Given the description of an element on the screen output the (x, y) to click on. 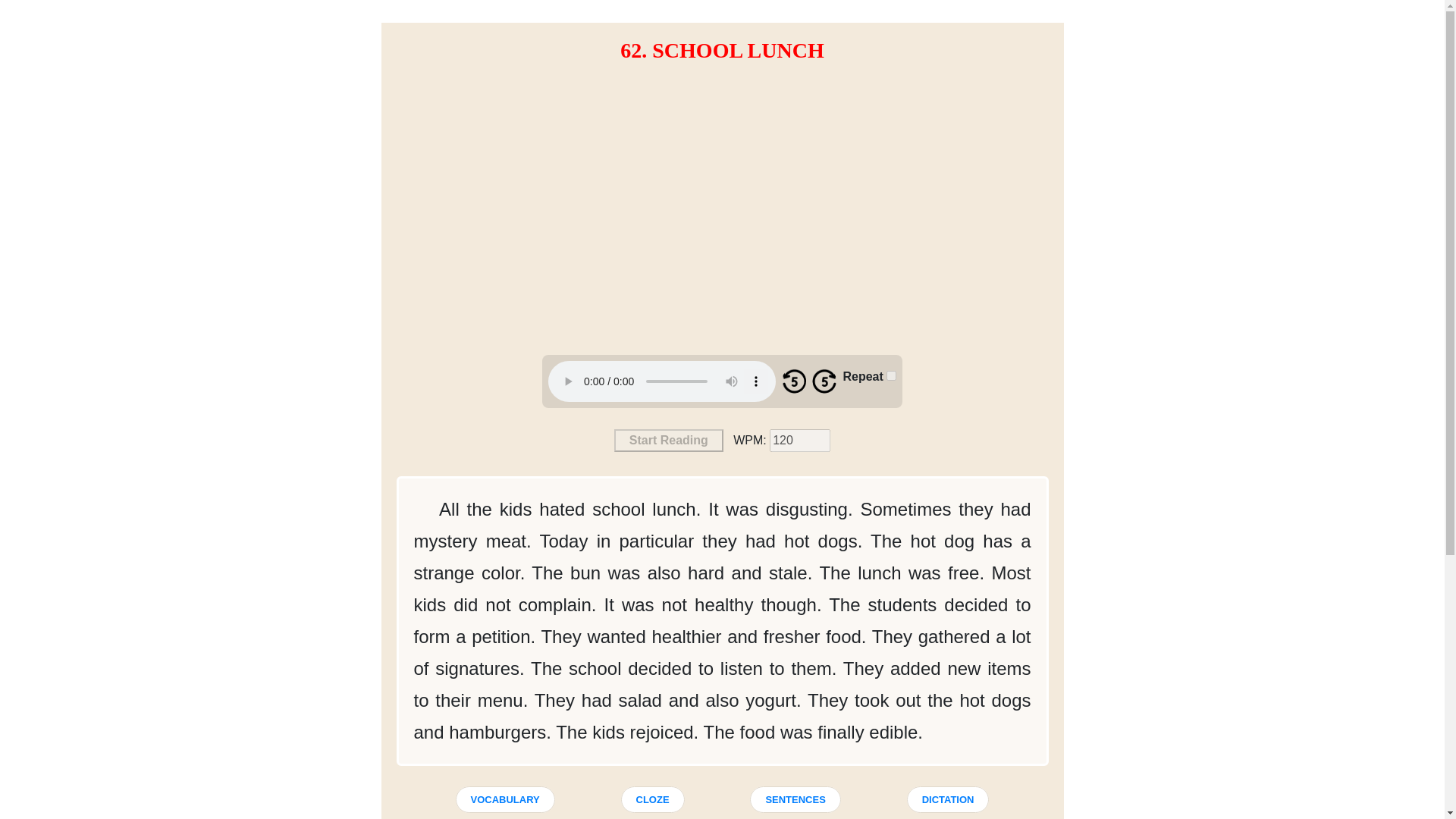
120 (799, 440)
on (891, 375)
SENTENCES (794, 799)
VOCABULARY (504, 799)
DICTATION (948, 799)
Start Reading (668, 440)
CLOZE (652, 799)
